Given the description of an element on the screen output the (x, y) to click on. 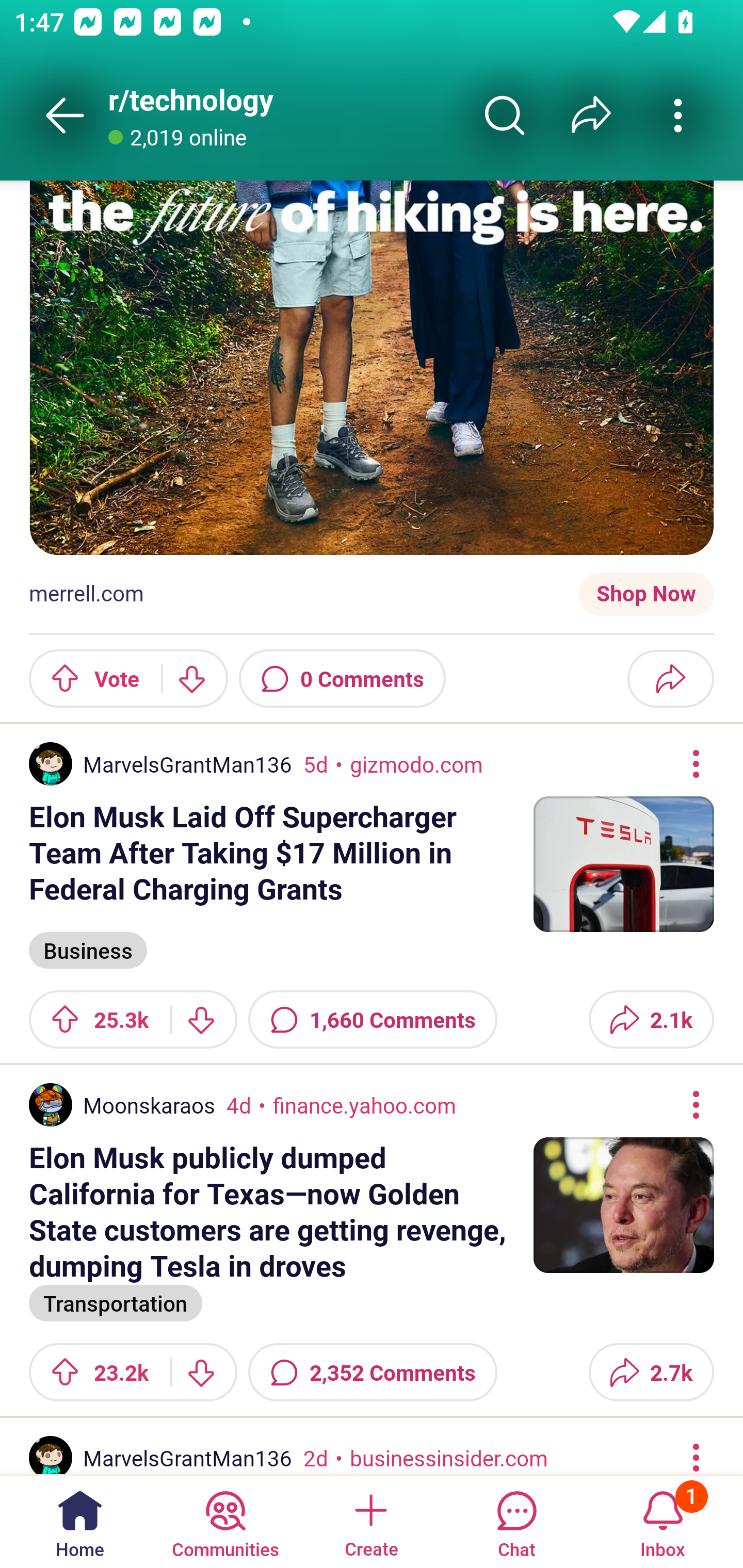
Back (64, 115)
Search r/﻿technology (504, 115)
Share r/﻿technology (591, 115)
More community actions (677, 115)
Business (87, 948)
Transportation (115, 1301)
Home (80, 1520)
Communities (225, 1520)
Create a post Create (370, 1520)
Chat (516, 1520)
Inbox, has 1 notification 1 Inbox (662, 1520)
